Given the description of an element on the screen output the (x, y) to click on. 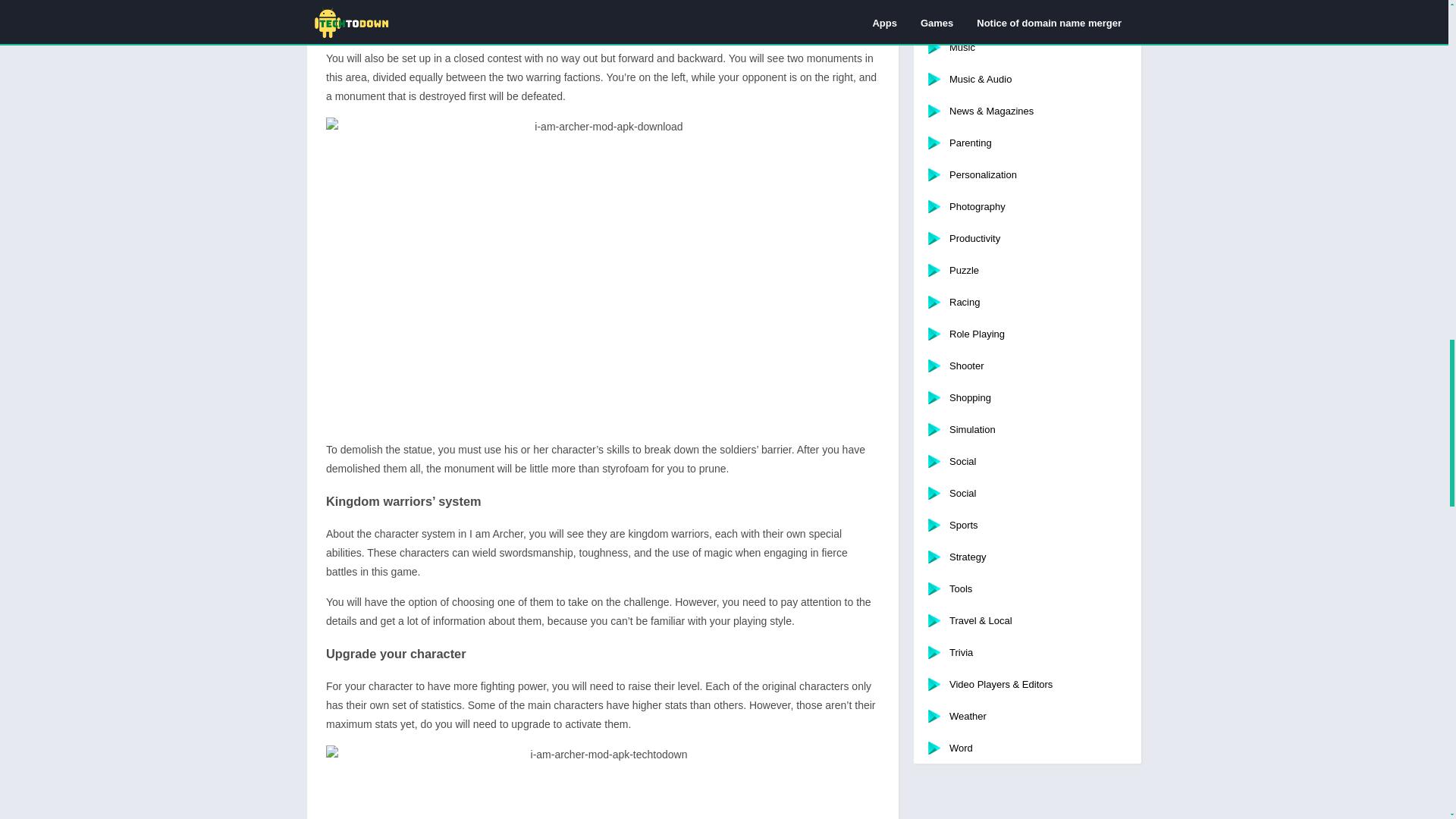
I am Archer 4 (602, 782)
